Given the description of an element on the screen output the (x, y) to click on. 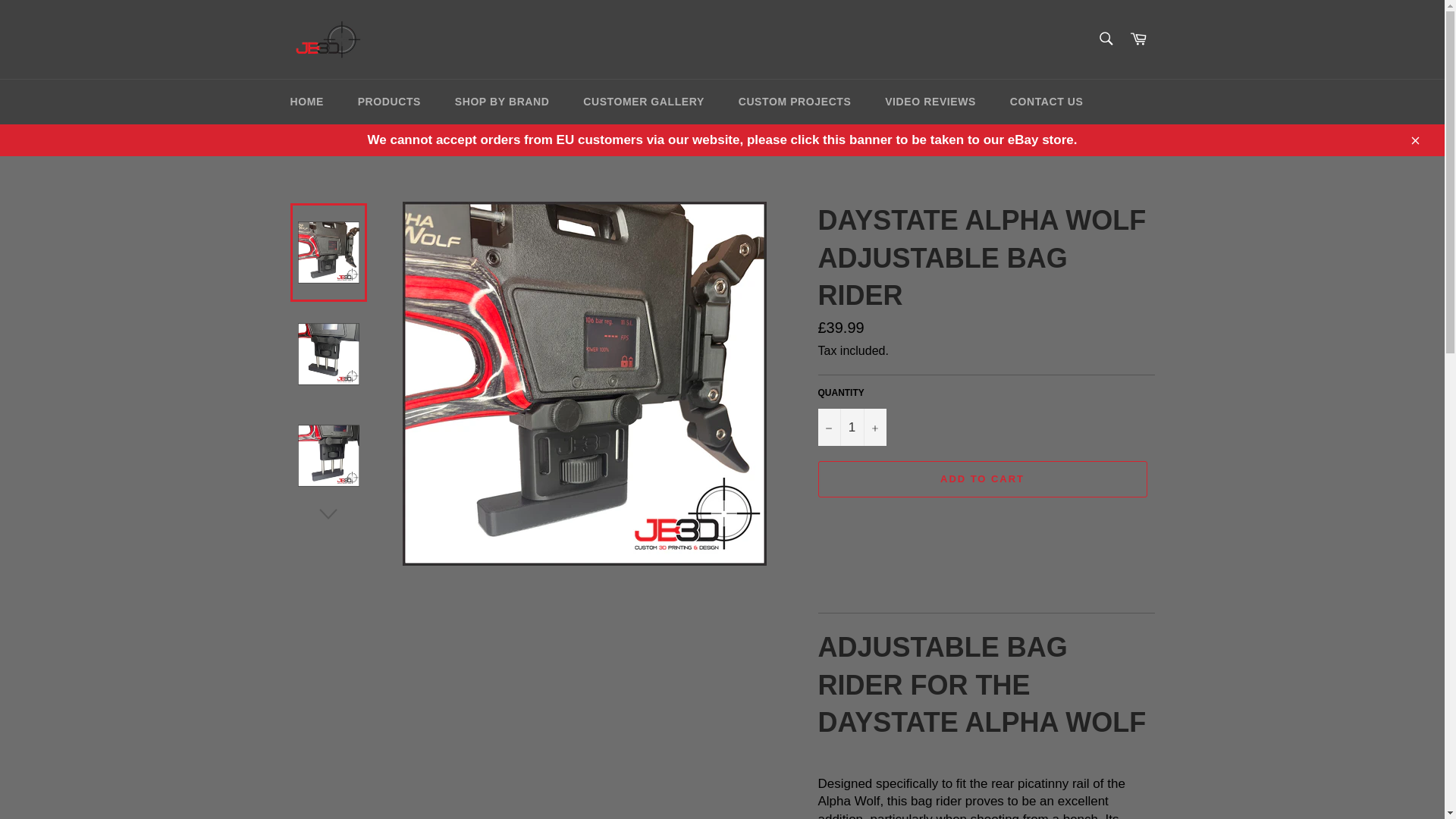
HOME (306, 101)
SHOP BY BRAND (501, 101)
Cart (1138, 39)
1 (850, 426)
Search (1104, 38)
CUSTOM PROJECTS (794, 101)
CONTACT US (1046, 101)
CUSTOMER GALLERY (643, 101)
PRODUCTS (388, 101)
Close (1414, 139)
